Given the description of an element on the screen output the (x, y) to click on. 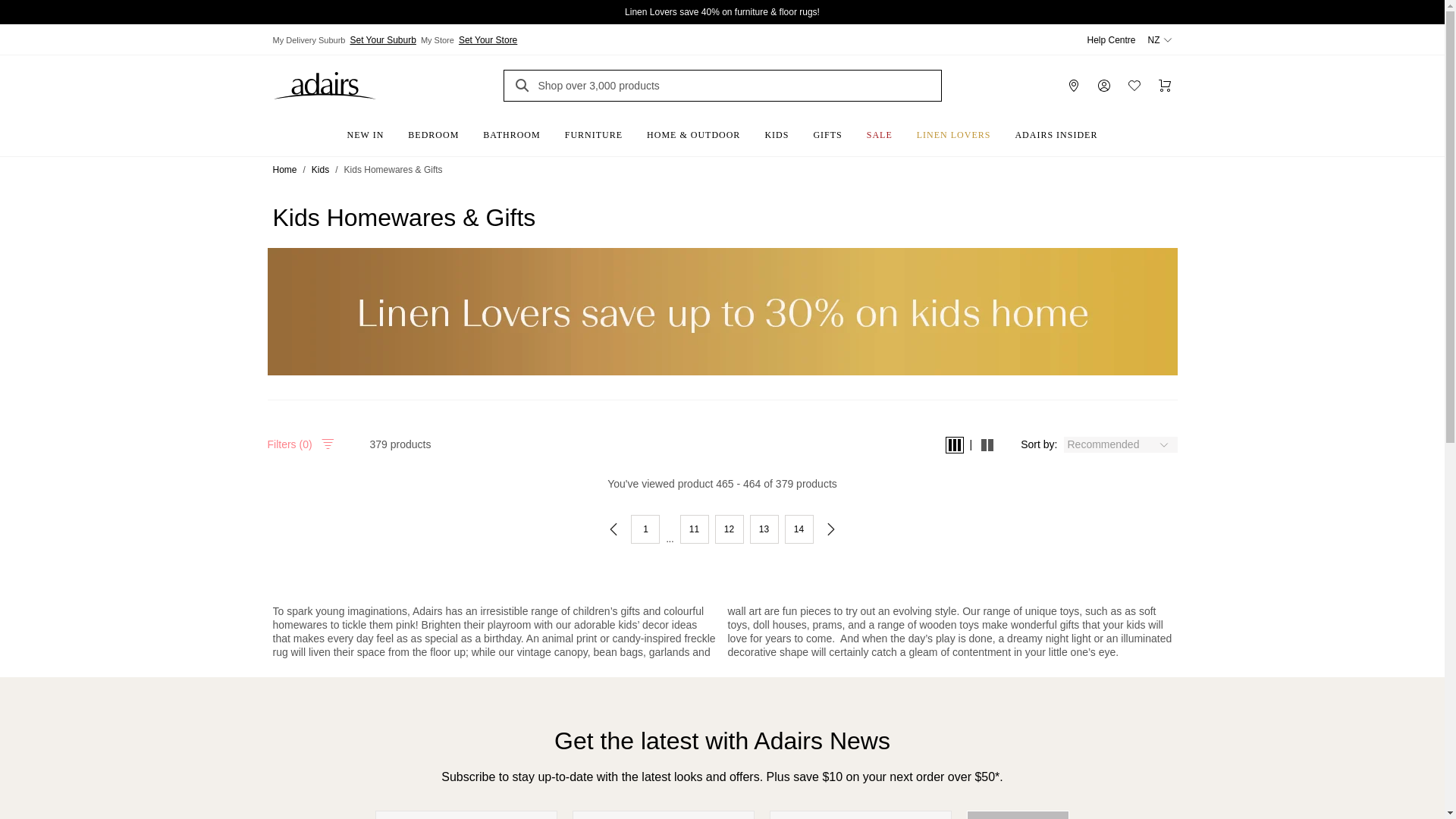
LINEN LOVERS (953, 130)
BEDROOM (433, 130)
GIFTS (826, 130)
KIDS (776, 130)
NEW IN (365, 130)
FURNITURE (593, 130)
Help Centre (1110, 40)
Set Your Store (487, 39)
BATHROOM (510, 130)
ADAIRS INSIDER (1056, 130)
